Given the description of an element on the screen output the (x, y) to click on. 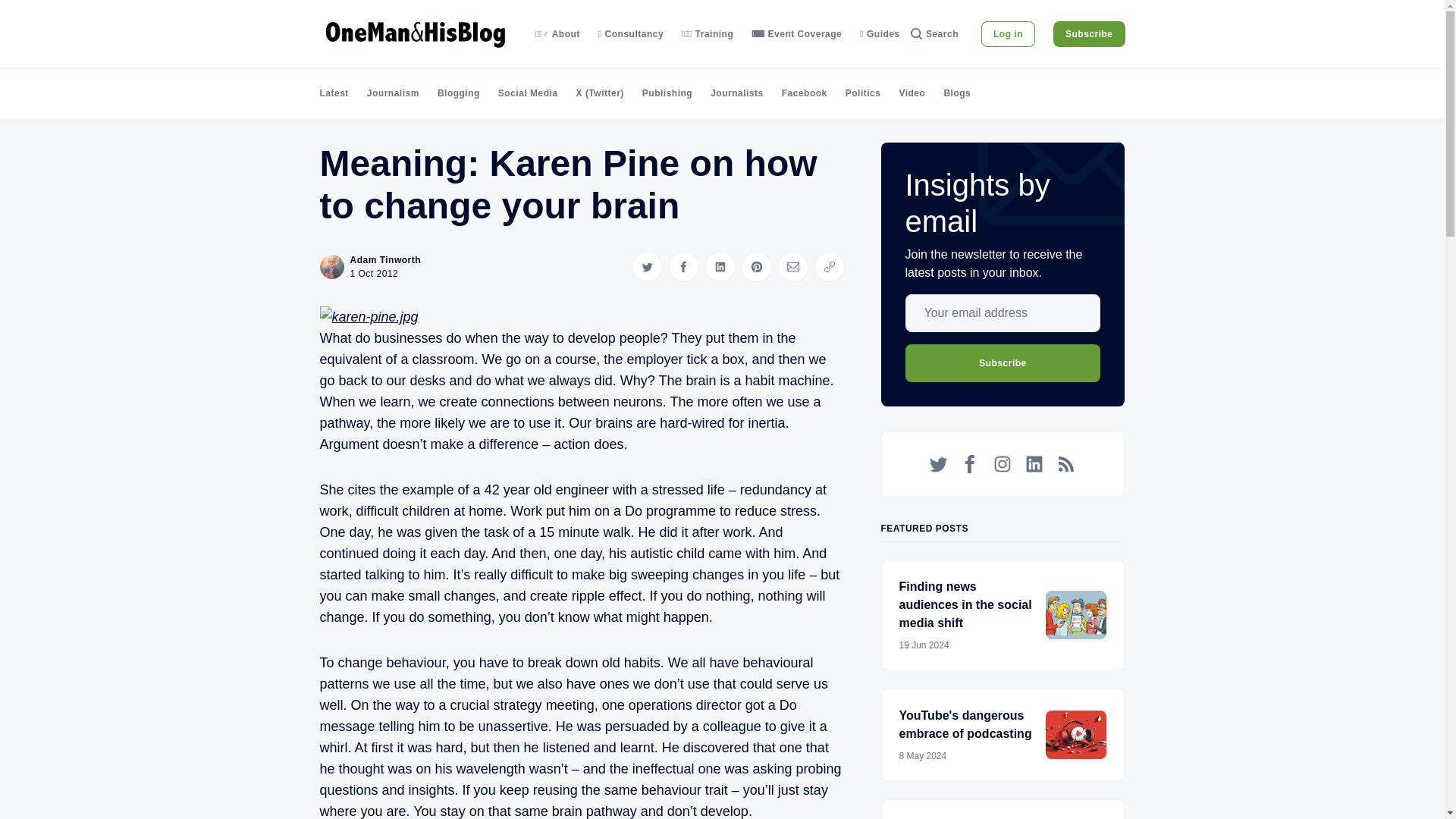
Latest (334, 92)
Publishing (667, 92)
Share on LinkedIn (719, 266)
Adam Tinworth (386, 259)
Log in (1008, 33)
Social Media (527, 92)
Blogs (957, 92)
Blogging (459, 92)
Search (933, 33)
Facebook (804, 92)
Share on Pinterest (756, 266)
Journalism (392, 92)
Share via Email (792, 266)
Share on Facebook (683, 266)
Copy link (828, 266)
